Given the description of an element on the screen output the (x, y) to click on. 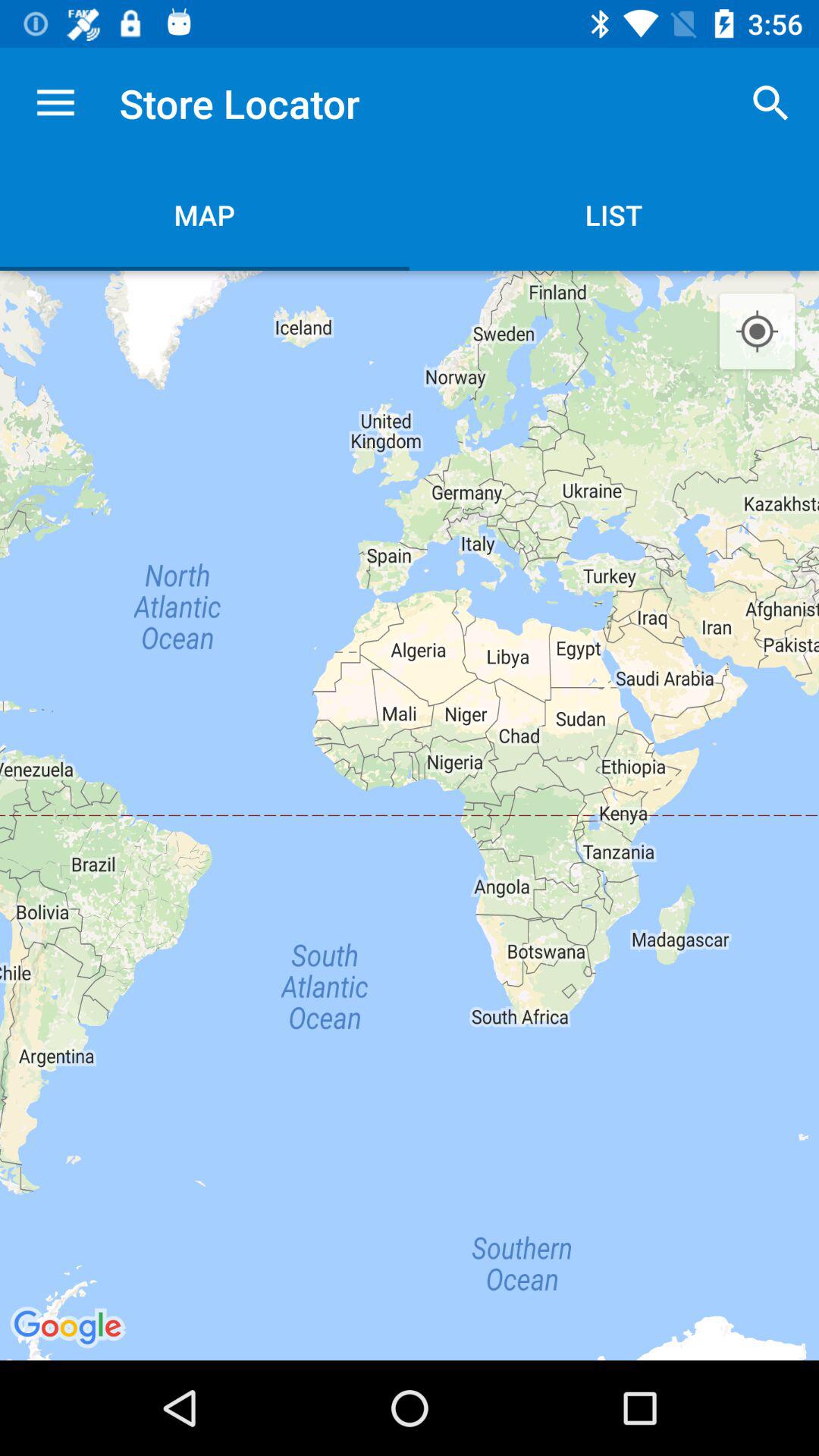
click item at the center (409, 815)
